Given the description of an element on the screen output the (x, y) to click on. 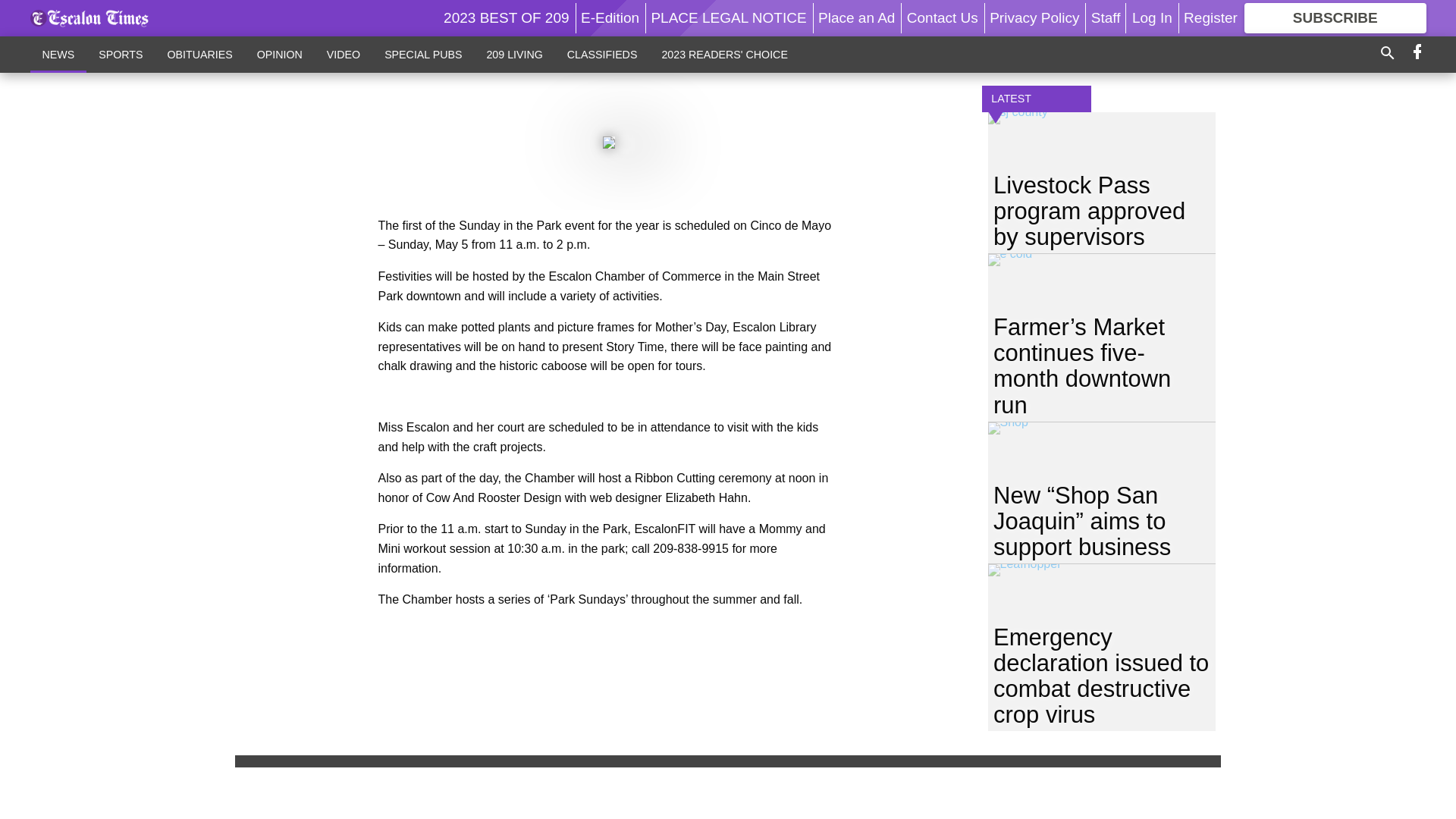
E-Edition (609, 17)
Contact Us (942, 17)
SUBSCRIBE (1335, 18)
2023 BEST OF 209 (506, 17)
Staff (1105, 17)
Register (1210, 17)
Log In (1152, 17)
PLACE LEGAL NOTICE (728, 17)
Privacy Policy (1034, 17)
Place an Ad (856, 17)
